Given the description of an element on the screen output the (x, y) to click on. 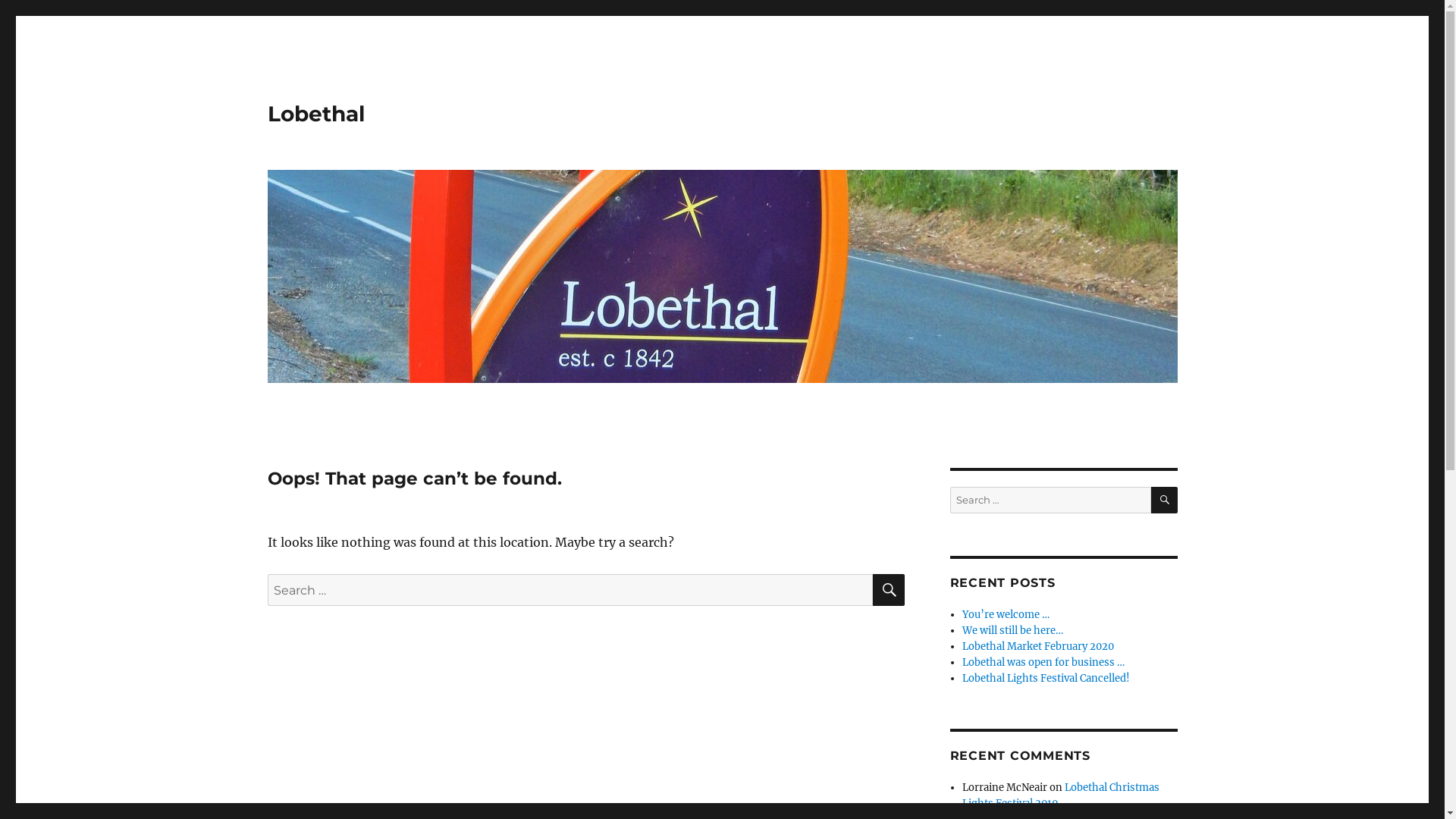
Lobethal Element type: text (315, 113)
Lobethal Christmas Lights Festival 2019 Element type: text (1060, 795)
SEARCH Element type: text (887, 589)
Lobethal Lights Festival Cancelled! Element type: text (1045, 677)
SEARCH Element type: text (1164, 499)
Lobethal Market February 2020 Element type: text (1037, 646)
